Given the description of an element on the screen output the (x, y) to click on. 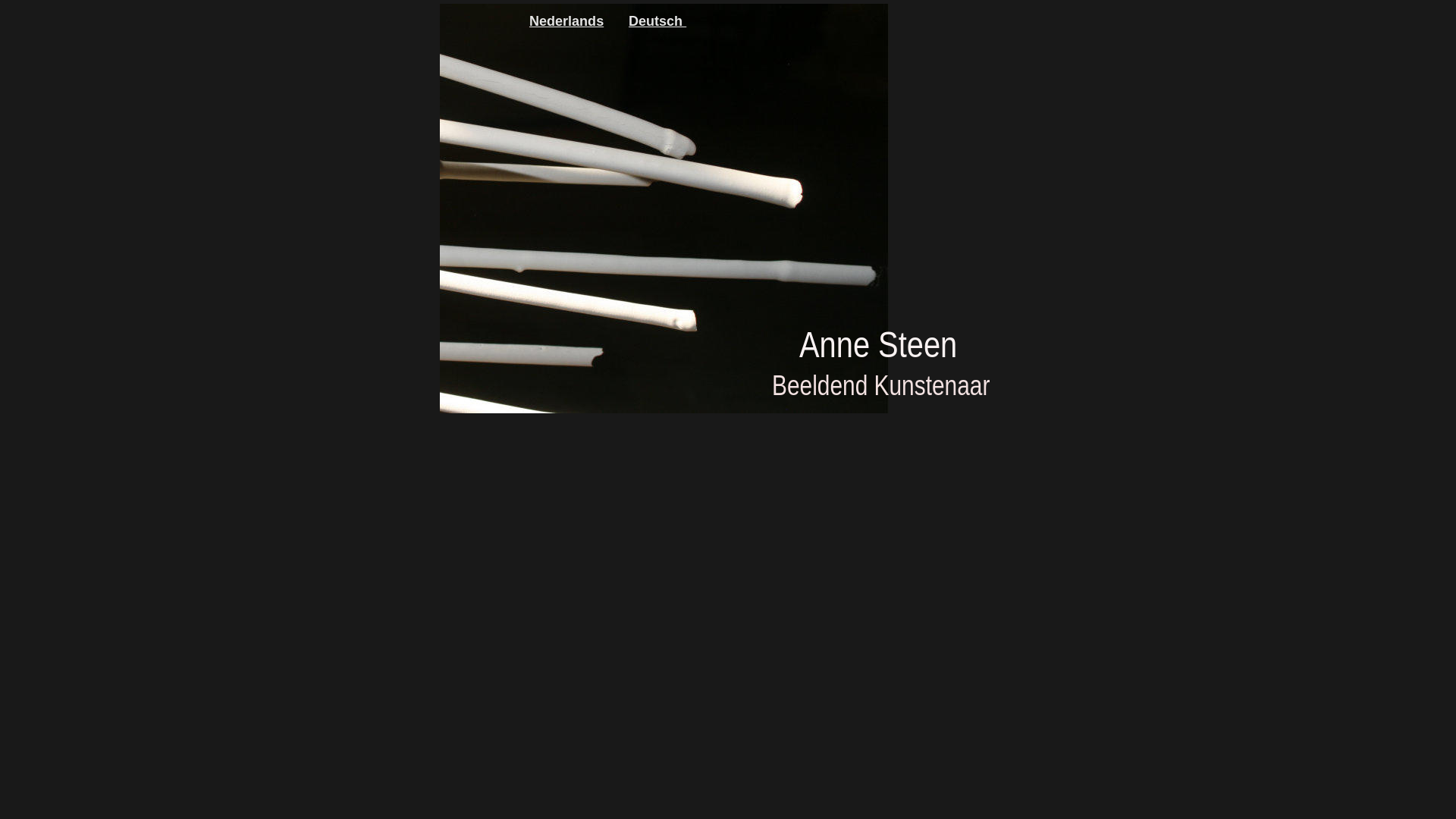
Deutsch Element type: text (655, 20)
Nederlands Element type: text (566, 20)
  Element type: text (684, 20)
